Given the description of an element on the screen output the (x, y) to click on. 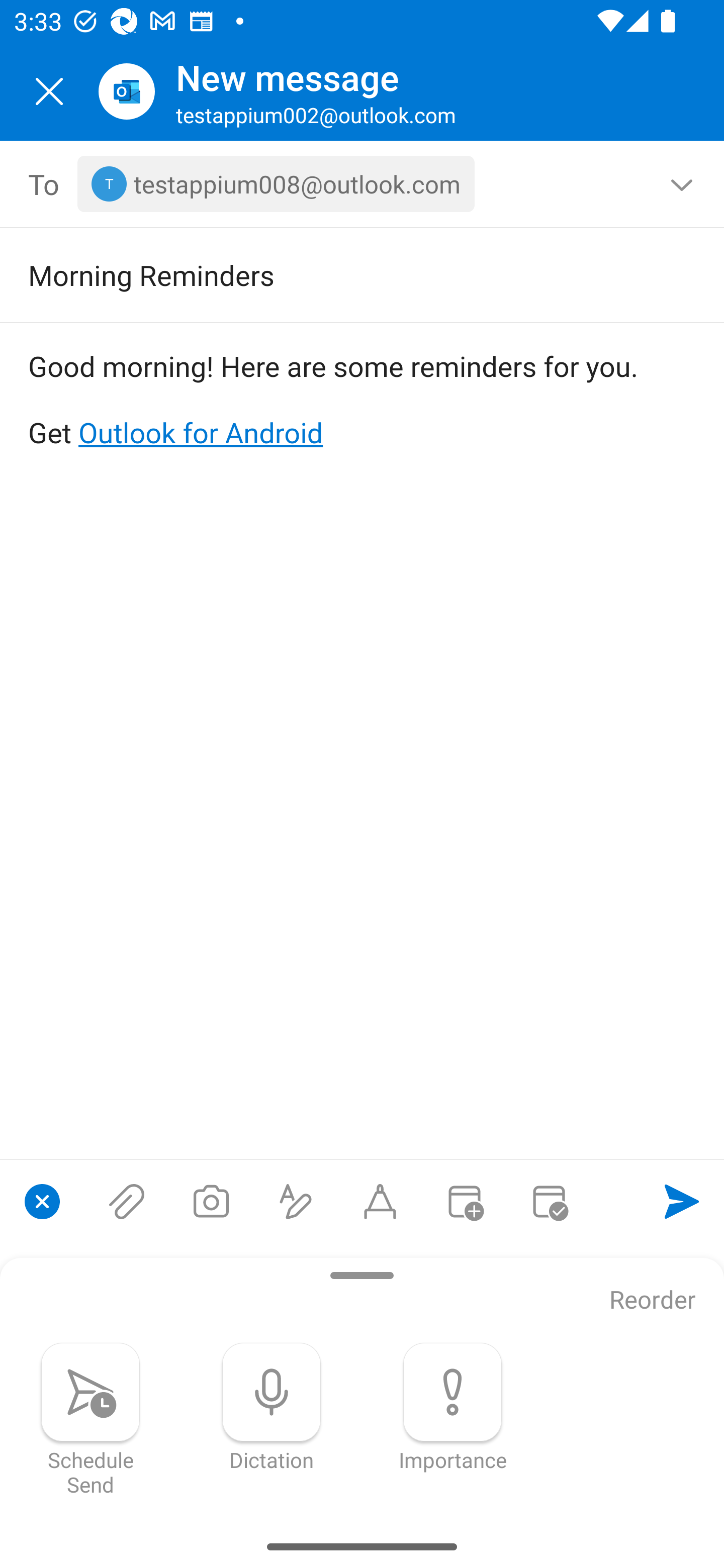
Close (49, 91)
To, 1 recipient <testappium008@outlook.com> (362, 184)
Morning Reminders (333, 274)
Close compose options (42, 1200)
Attach files (126, 1200)
Take a photo (210, 1200)
Show formatting options (295, 1200)
Start Ink compose (380, 1200)
Convert to event (464, 1200)
Send availability (548, 1200)
Send (681, 1200)
Reorder (652, 1300)
Schedule Send (90, 1419)
Dictation (271, 1406)
Importance (452, 1406)
